Given the description of an element on the screen output the (x, y) to click on. 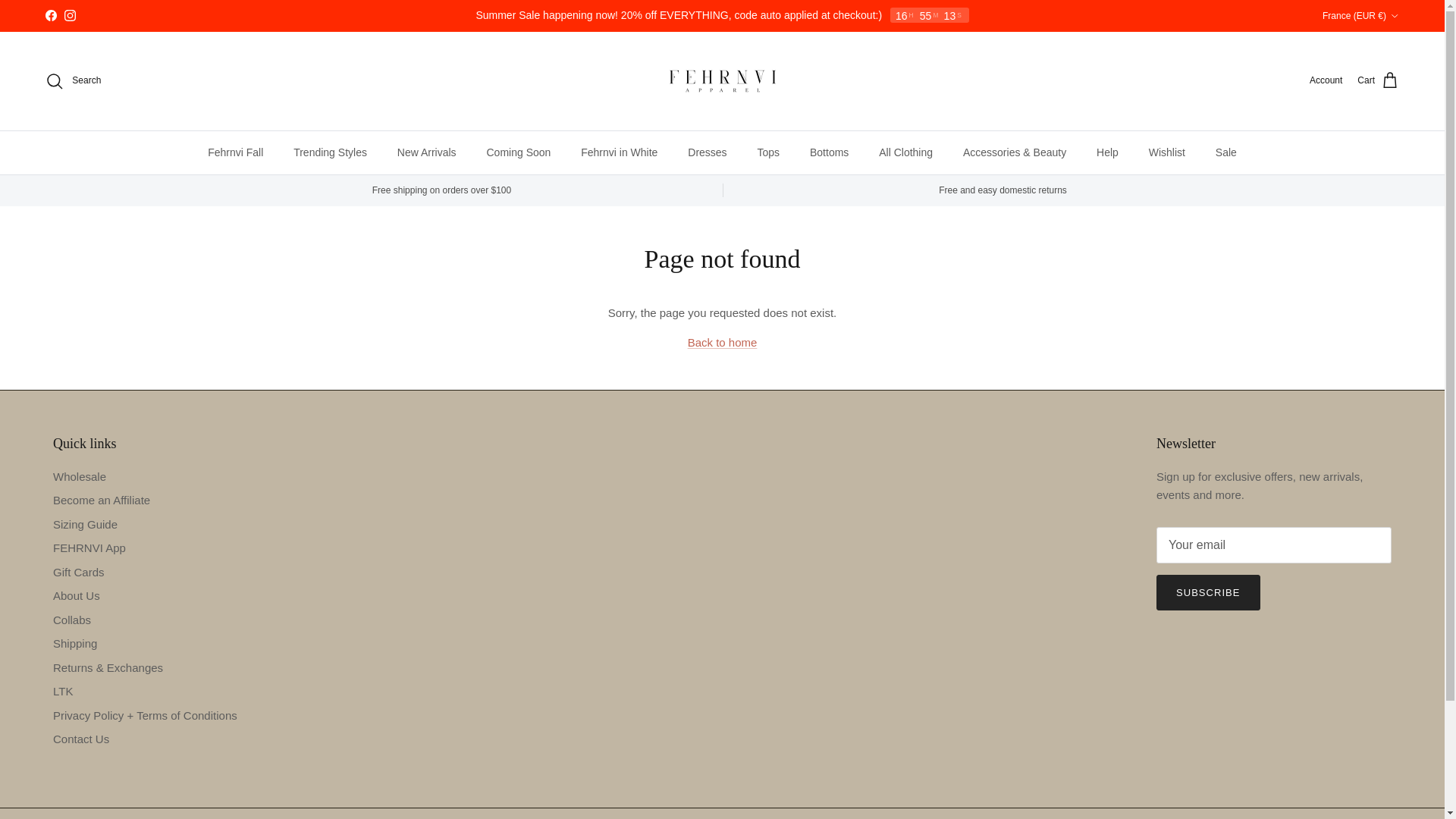
Fehrnvi in White (619, 152)
Dresses (706, 152)
Coming Soon (518, 152)
FEHRNVI on Instagram (69, 15)
Trending Styles (329, 152)
Account (1325, 80)
New Arrivals (427, 152)
FEHRNVI (721, 80)
Search (72, 81)
FEHRNVI on Facebook (50, 15)
